Given the description of an element on the screen output the (x, y) to click on. 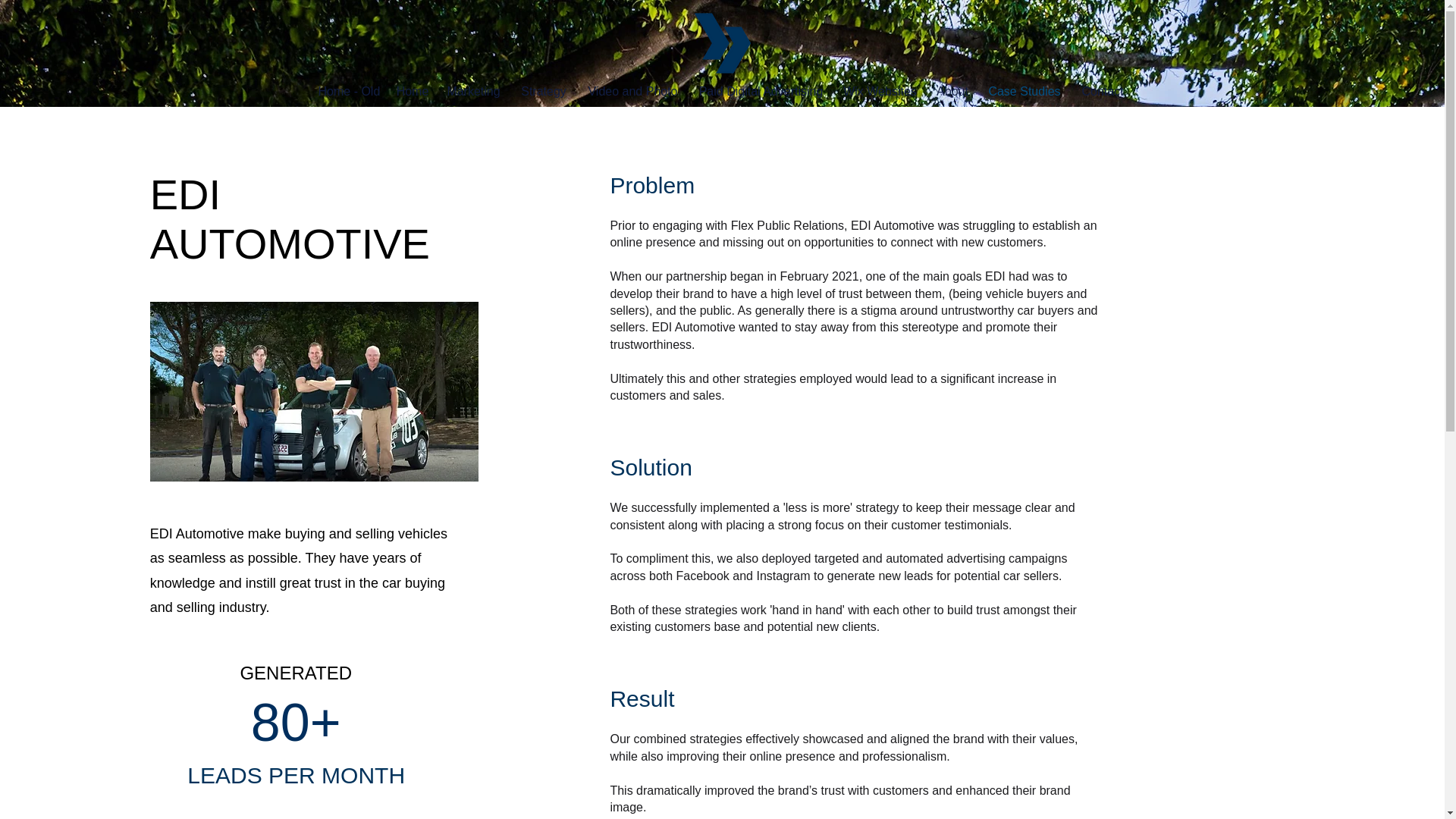
Home (413, 91)
Wix Websites (880, 91)
Strategy (542, 91)
Paid Digital Advertising (761, 91)
Case Studies (1024, 91)
Contact (1102, 91)
Video and Photo (633, 91)
Home - Old (347, 91)
Marketing (472, 91)
